Given the description of an element on the screen output the (x, y) to click on. 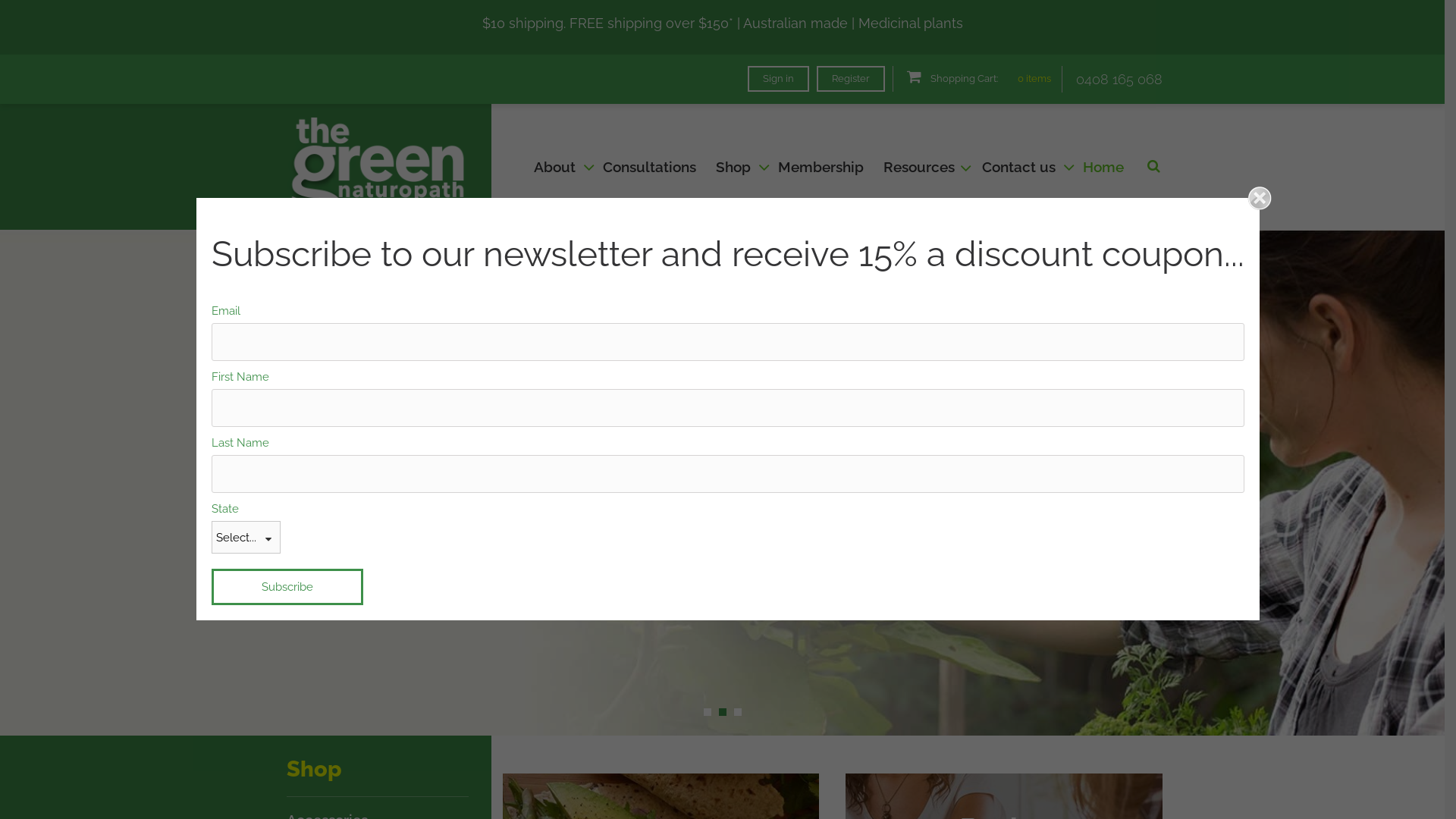
Membership Element type: text (820, 165)
About Element type: text (558, 165)
Home Element type: text (1102, 165)
Contact us Element type: text (1022, 165)
Sign in Element type: text (778, 78)
Shop Element type: text (736, 165)
Register Element type: text (850, 78)
Subscribe Element type: text (287, 586)
0408 165 068 Element type: text (1119, 78)
Consultations Element type: text (649, 165)
Shop Now Element type: text (384, 530)
0 items Element type: text (1034, 78)
Close Element type: hover (1259, 197)
